Given the description of an element on the screen output the (x, y) to click on. 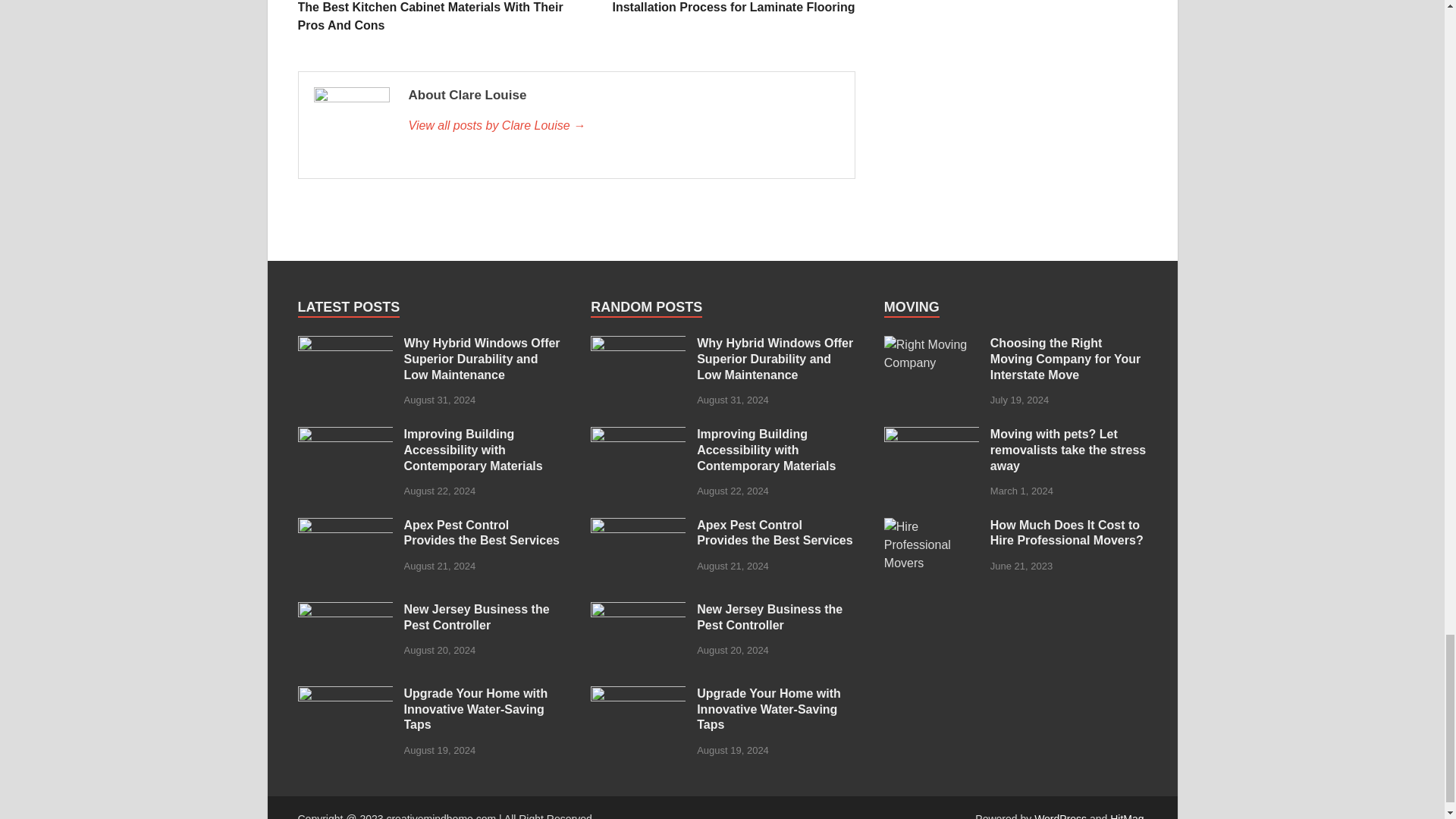
Improving Building Accessibility with Contemporary Materials (344, 435)
Clare Louise (622, 126)
